Given the description of an element on the screen output the (x, y) to click on. 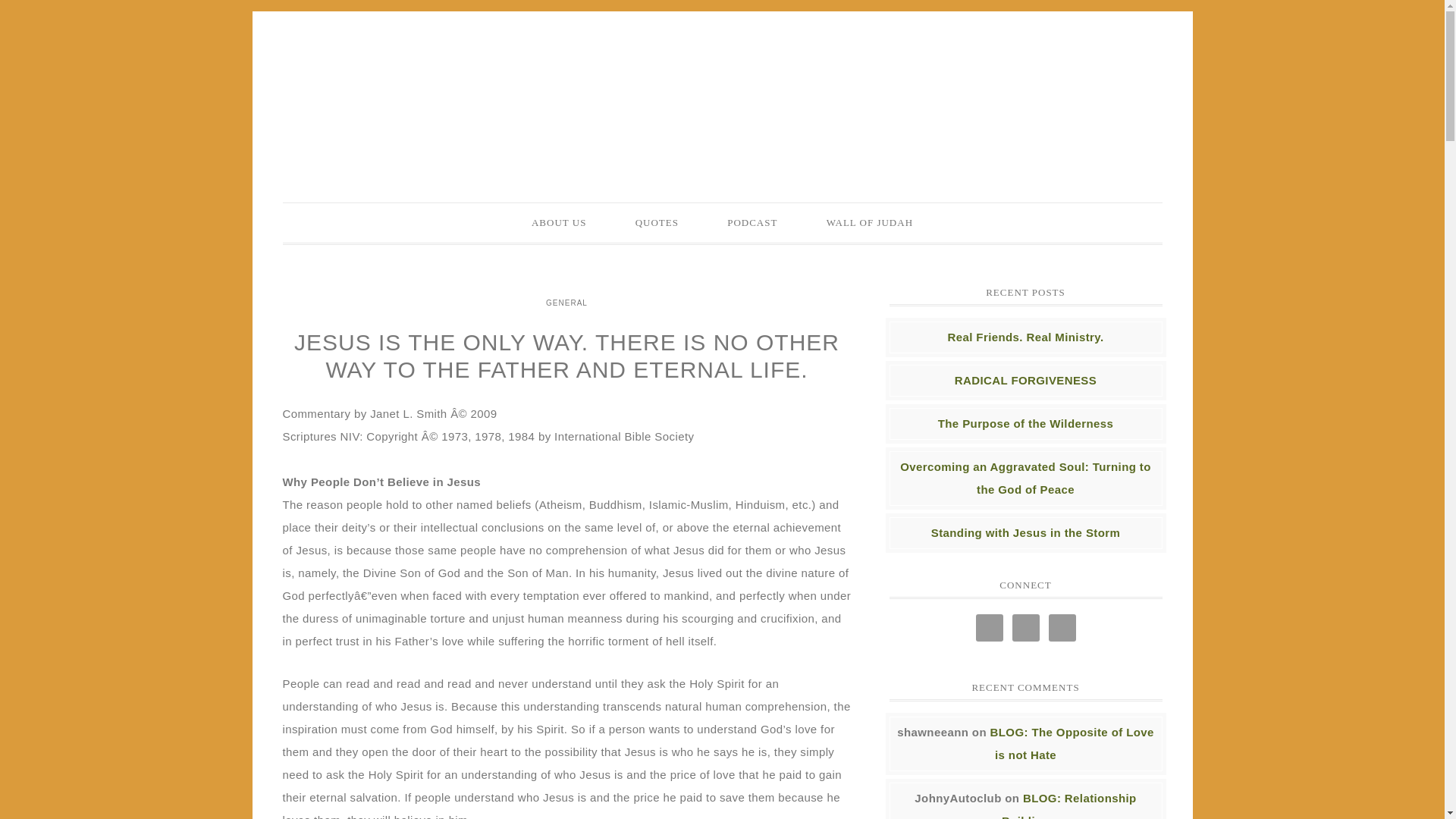
RADICAL FORGIVENESS (1025, 379)
Standing with Jesus in the Storm (1026, 532)
PODCAST (751, 222)
GARDEN MINISTRIES (721, 92)
WALL OF JUDAH (869, 222)
Real Friends. Real Ministry. (1025, 336)
BLOG: The Opposite of Love is not Hate (1072, 743)
The Purpose of the Wilderness (1025, 422)
ABOUT US (558, 222)
BLOG: Relationship Building (1069, 805)
Overcoming an Aggravated Soul: Turning to the God of Peace (1025, 478)
QUOTES (656, 222)
GENERAL (566, 302)
